Given the description of an element on the screen output the (x, y) to click on. 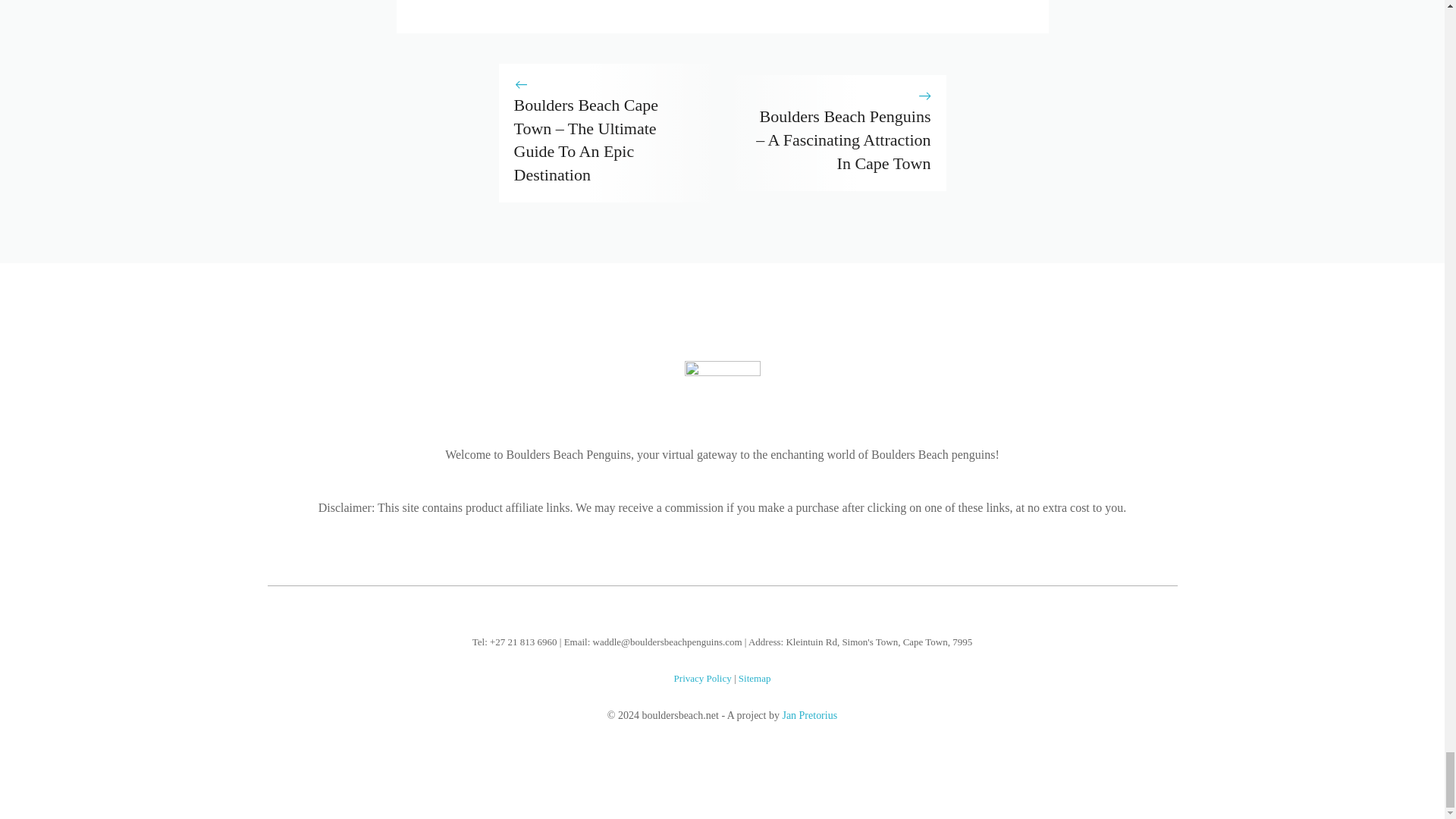
boulders-beach-penguins-ico (722, 391)
Jan Pretorius (809, 715)
Privacy Policy (703, 677)
Privacy Policy (703, 677)
Sitemap (754, 677)
Sitemap (754, 677)
